Given the description of an element on the screen output the (x, y) to click on. 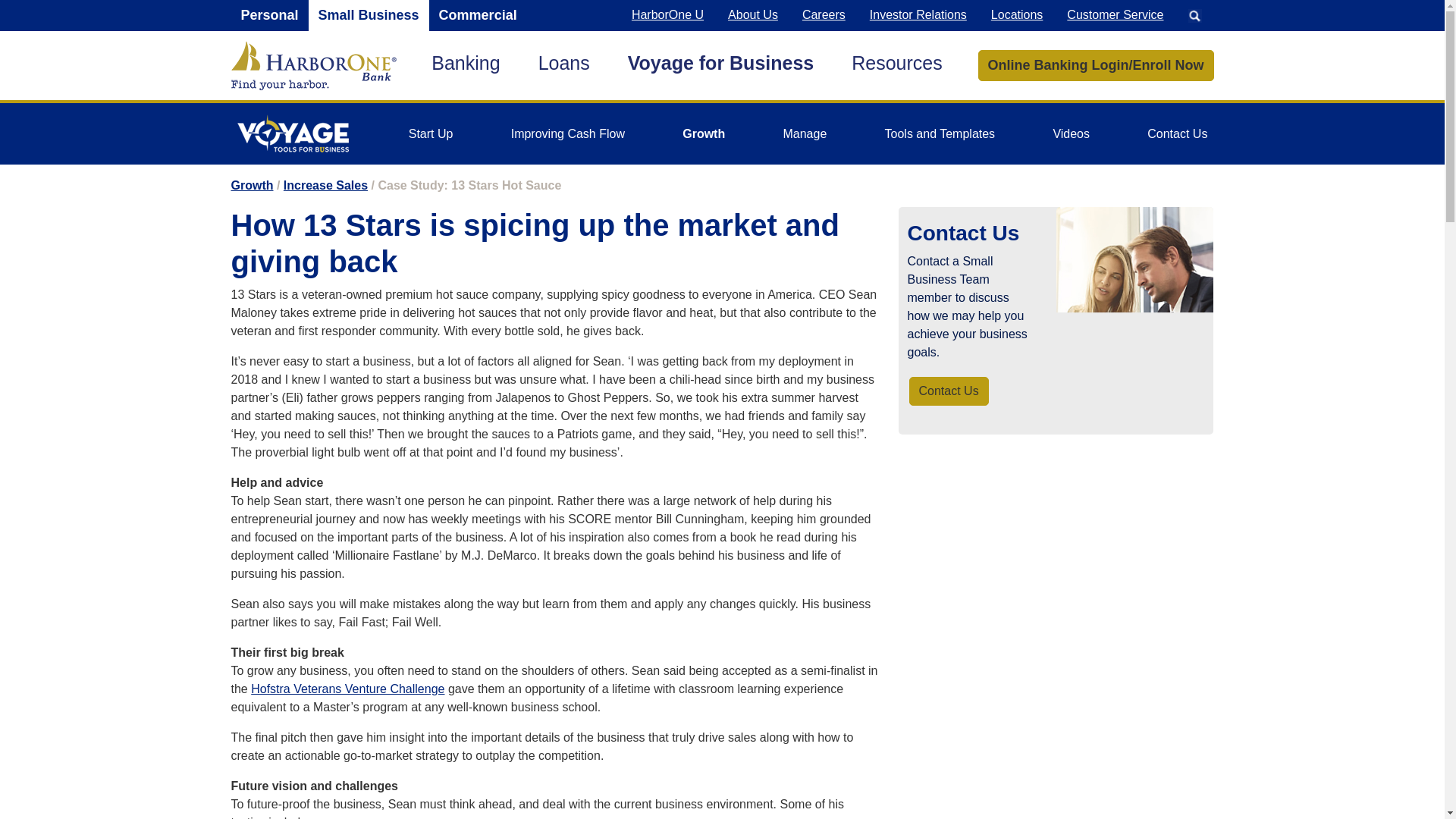
Banking (465, 65)
Loans (563, 65)
Customer Service (1114, 15)
HarborOne U (668, 15)
About Us (753, 15)
Personal (268, 15)
Investor Relations (917, 15)
Locations (1016, 15)
Commercial (478, 15)
Careers (823, 15)
